Given the description of an element on the screen output the (x, y) to click on. 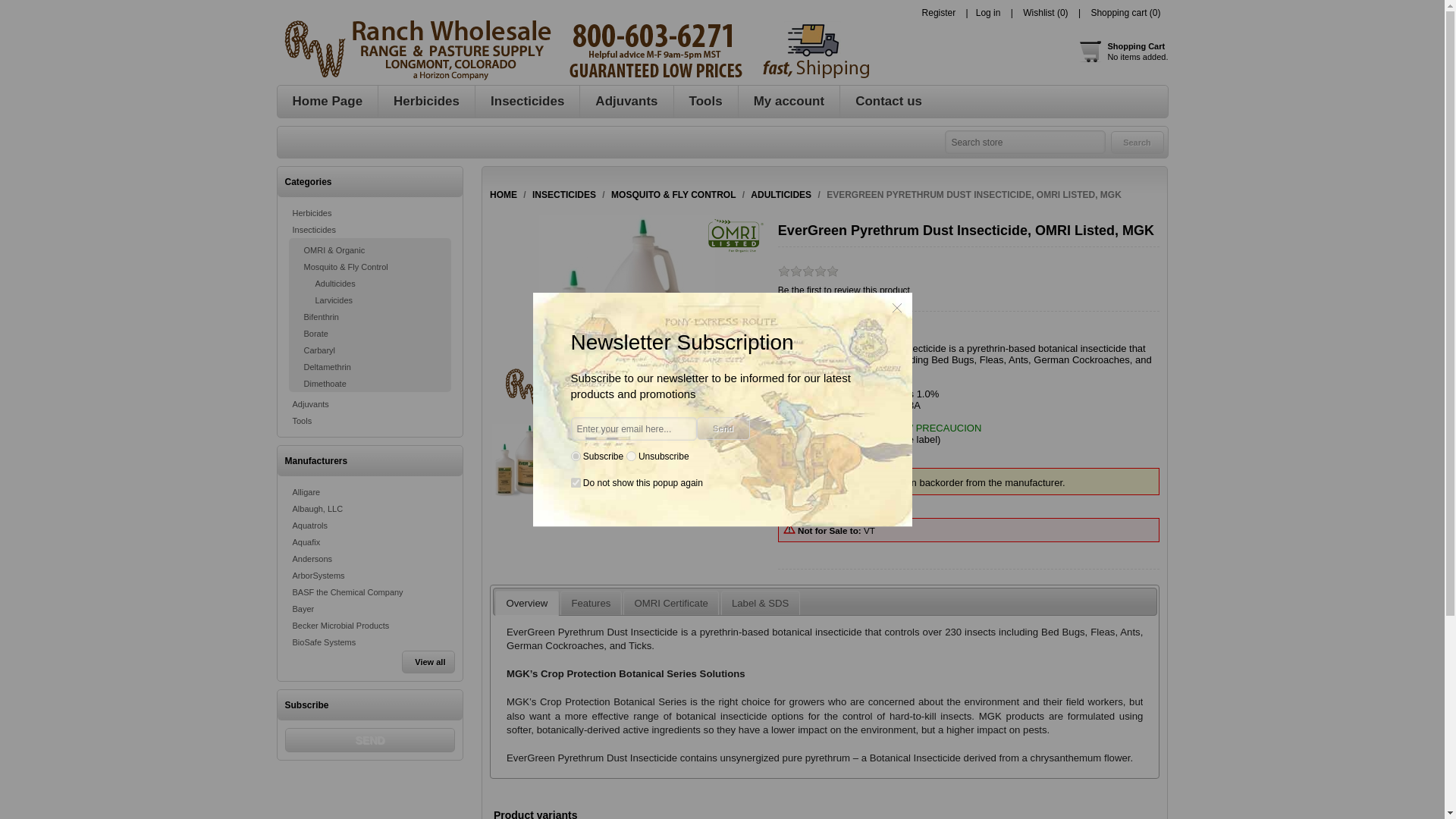
on (574, 482)
Ranch Wholesale (572, 50)
Insecticides (527, 101)
Send (370, 740)
Home Page (328, 101)
Search (1136, 141)
Search (1136, 141)
Herbicides (426, 101)
Register (1122, 51)
Log in (938, 12)
